Given the description of an element on the screen output the (x, y) to click on. 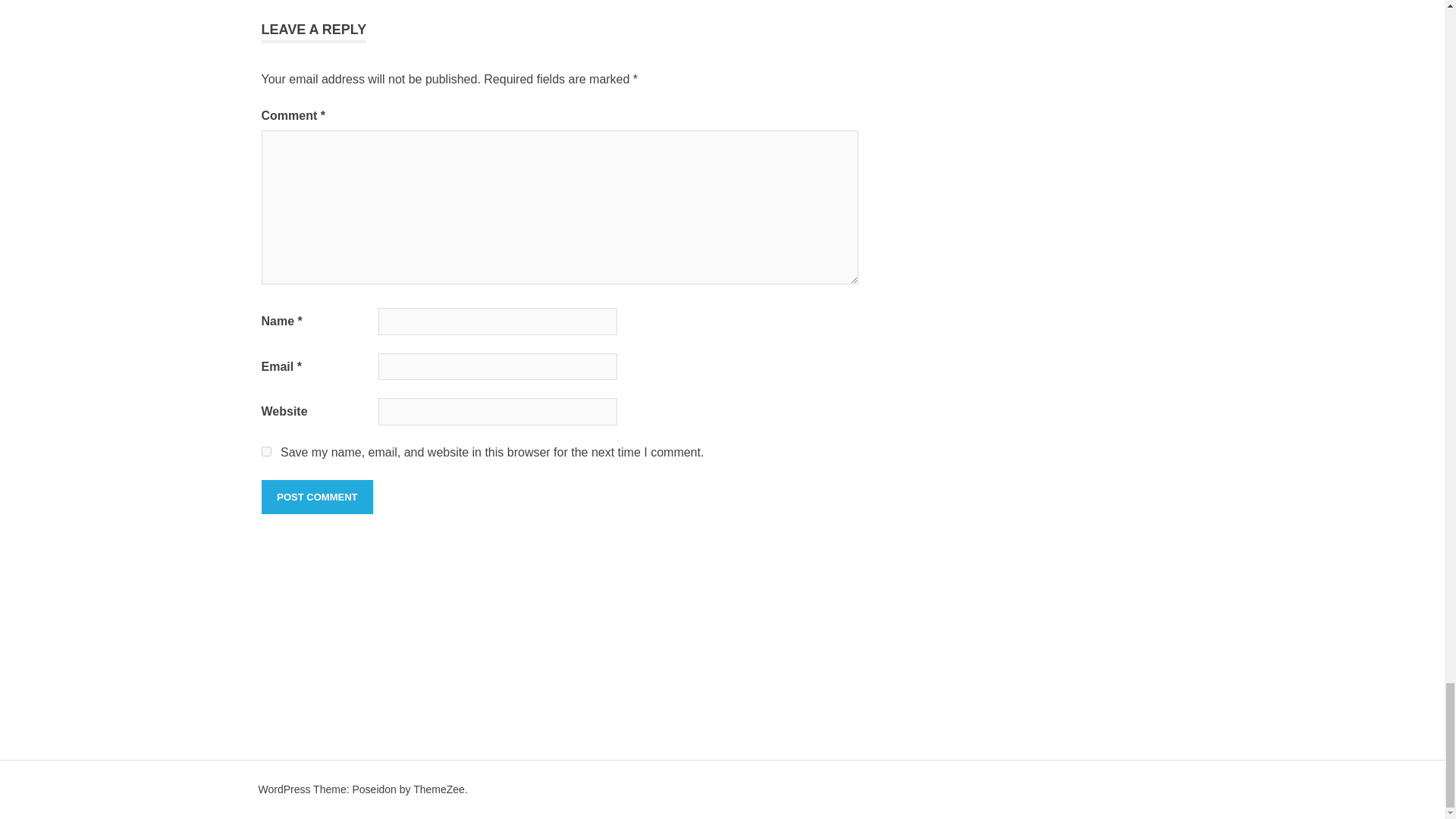
Post Comment (316, 497)
yes (265, 451)
Post Comment (316, 497)
Is Running Good for Weight loss (285, 22)
